Given the description of an element on the screen output the (x, y) to click on. 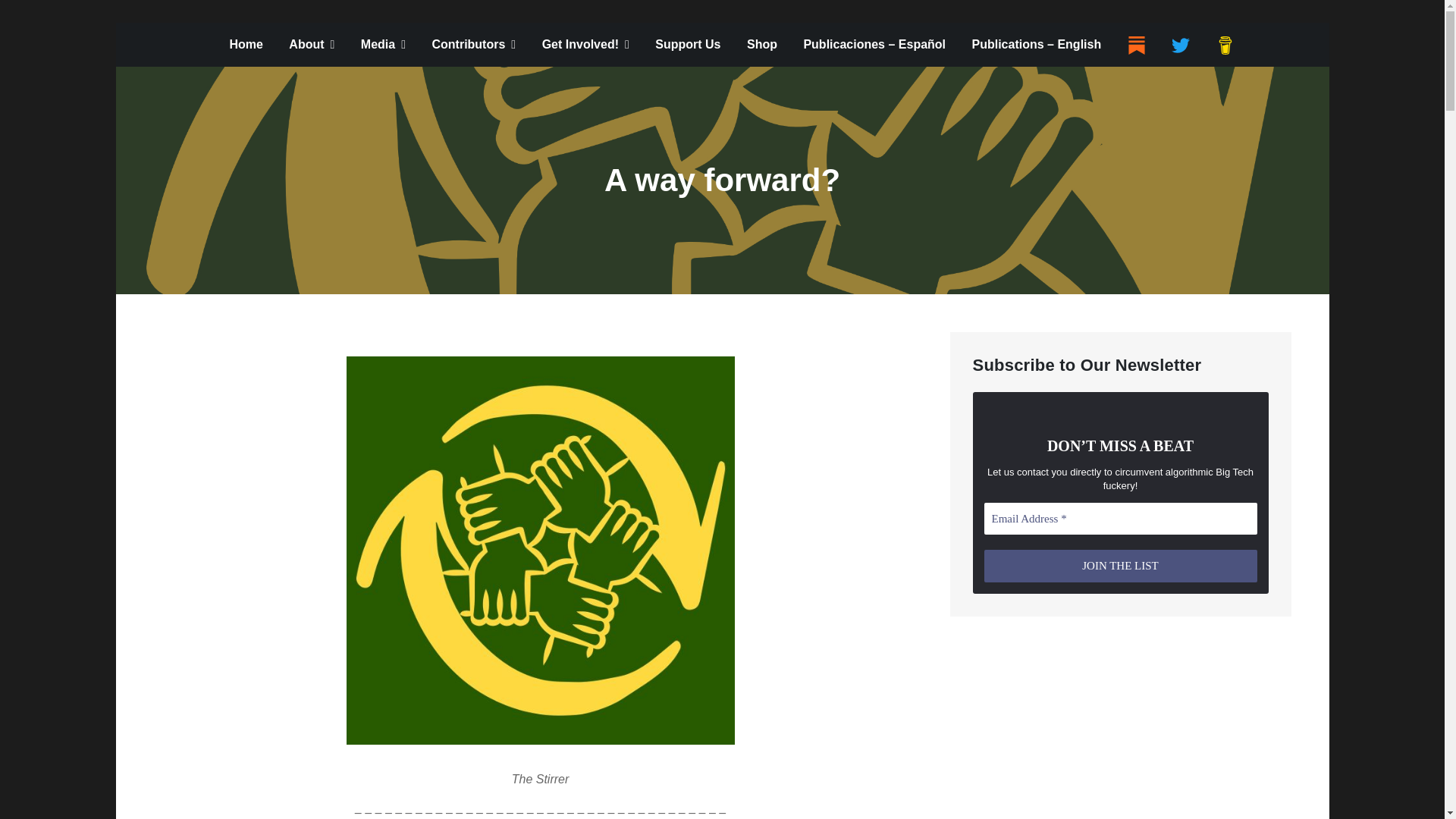
Substack (1135, 45)
Home (244, 44)
Twitter (1180, 45)
Contributors (473, 44)
Media (382, 44)
Email Address (1120, 518)
JOIN THE LIST (1120, 565)
About (312, 44)
Buy Me A Coffee (1224, 45)
